Given the description of an element on the screen output the (x, y) to click on. 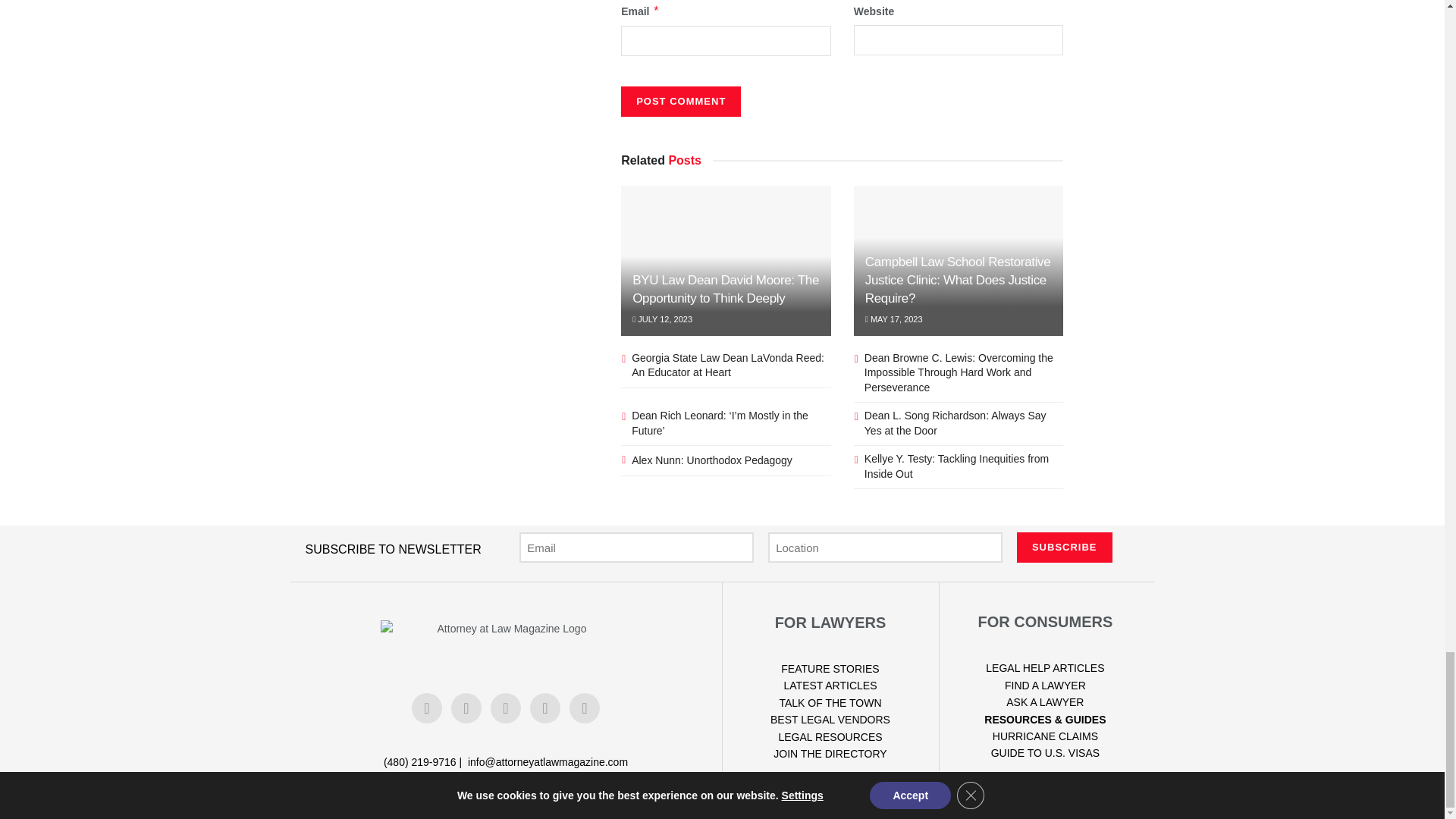
Post Comment (681, 101)
Subscribe (1064, 547)
